Given the description of an element on the screen output the (x, y) to click on. 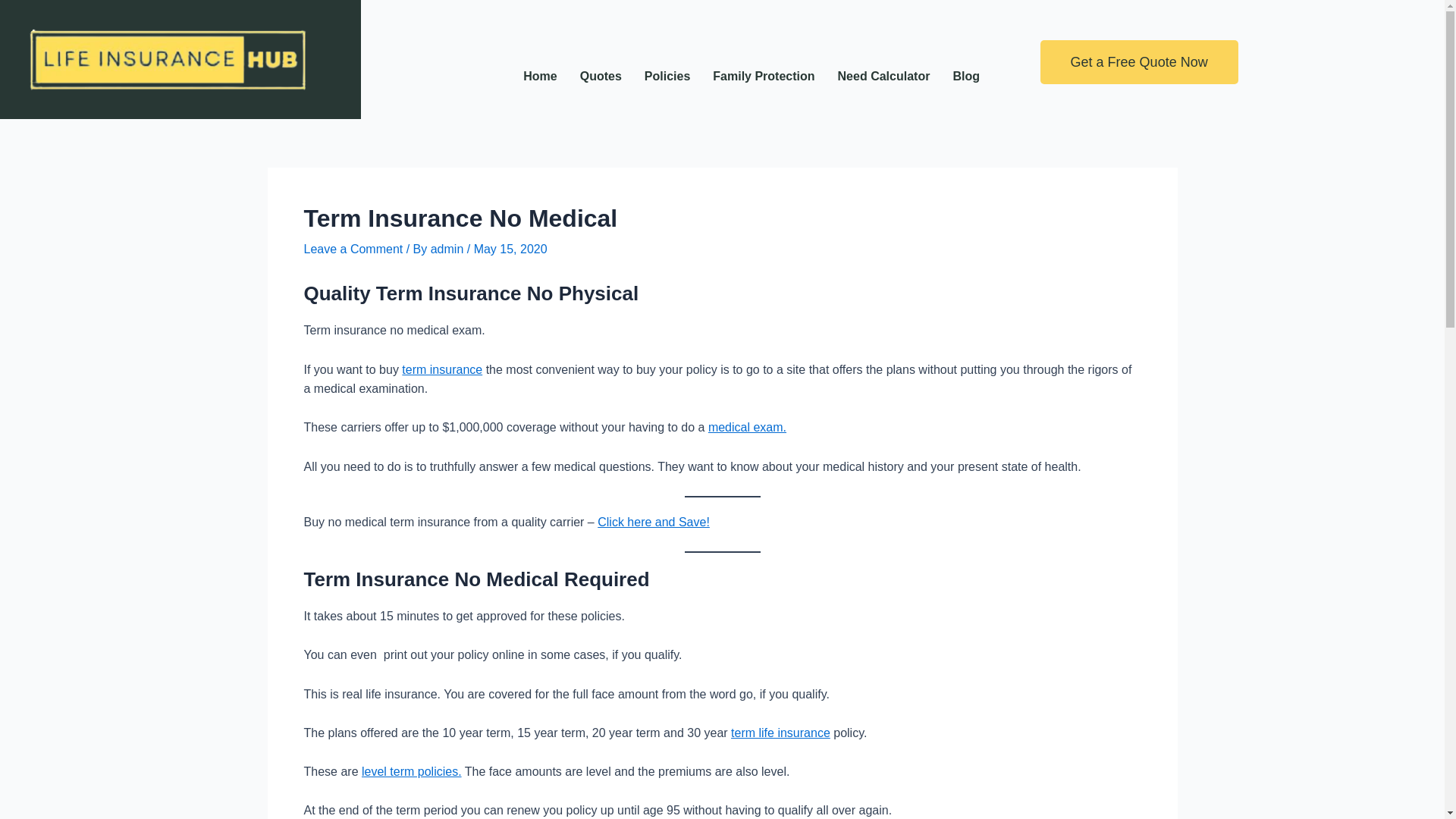
Click here and Save! (653, 521)
Quotes (601, 76)
Get a Free Quote Now (1140, 62)
View all posts by admin (448, 248)
Need Calculator (884, 76)
level term policies. (411, 771)
Blog (965, 76)
admin (448, 248)
medical exam. (746, 427)
Policies (667, 76)
